Given the description of an element on the screen output the (x, y) to click on. 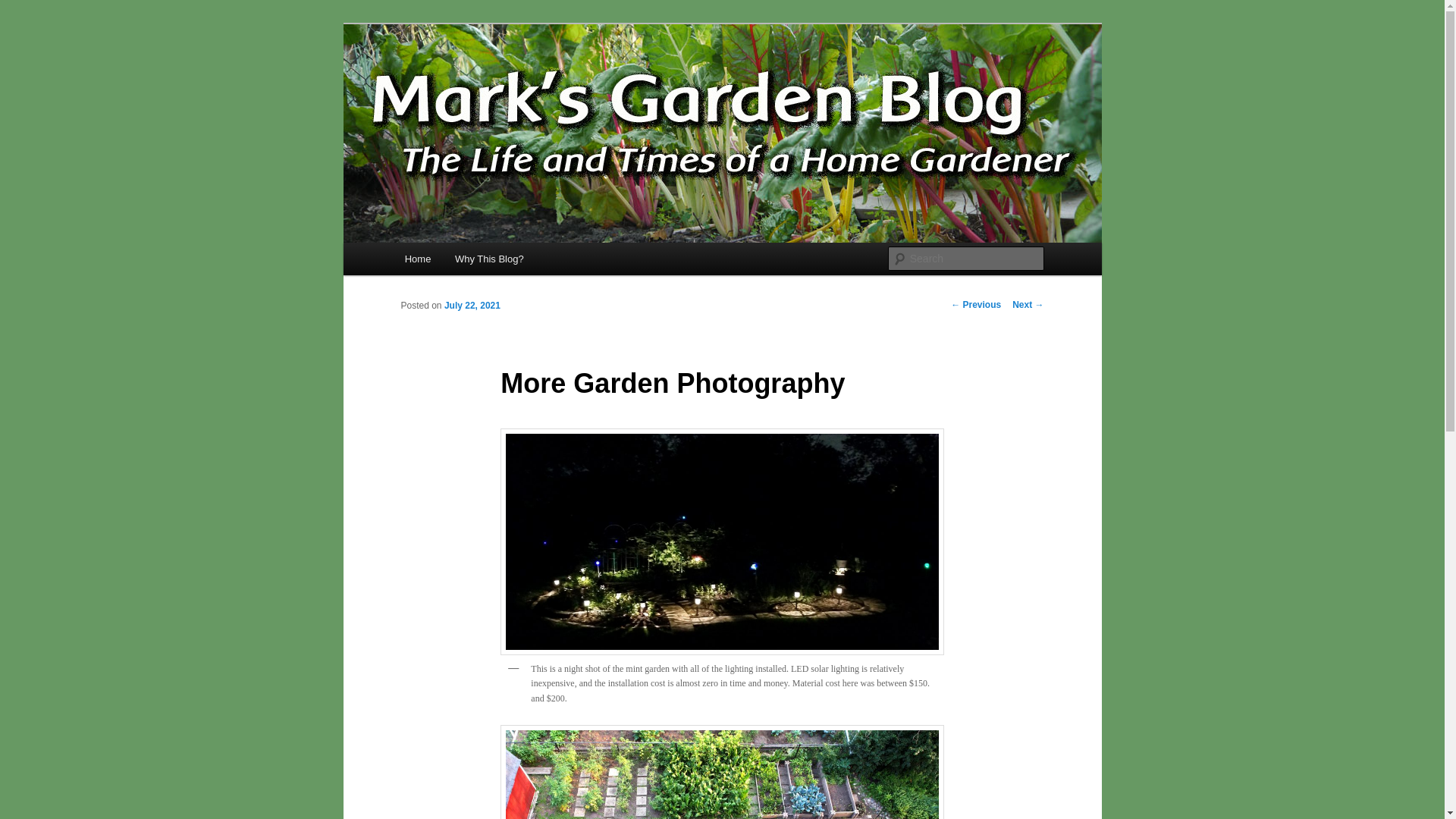
Mark's Garden Blog (507, 78)
5:21 pm (472, 305)
Why This Blog? (488, 258)
Search (24, 8)
July 22, 2021 (472, 305)
Home (417, 258)
